Given the description of an element on the screen output the (x, y) to click on. 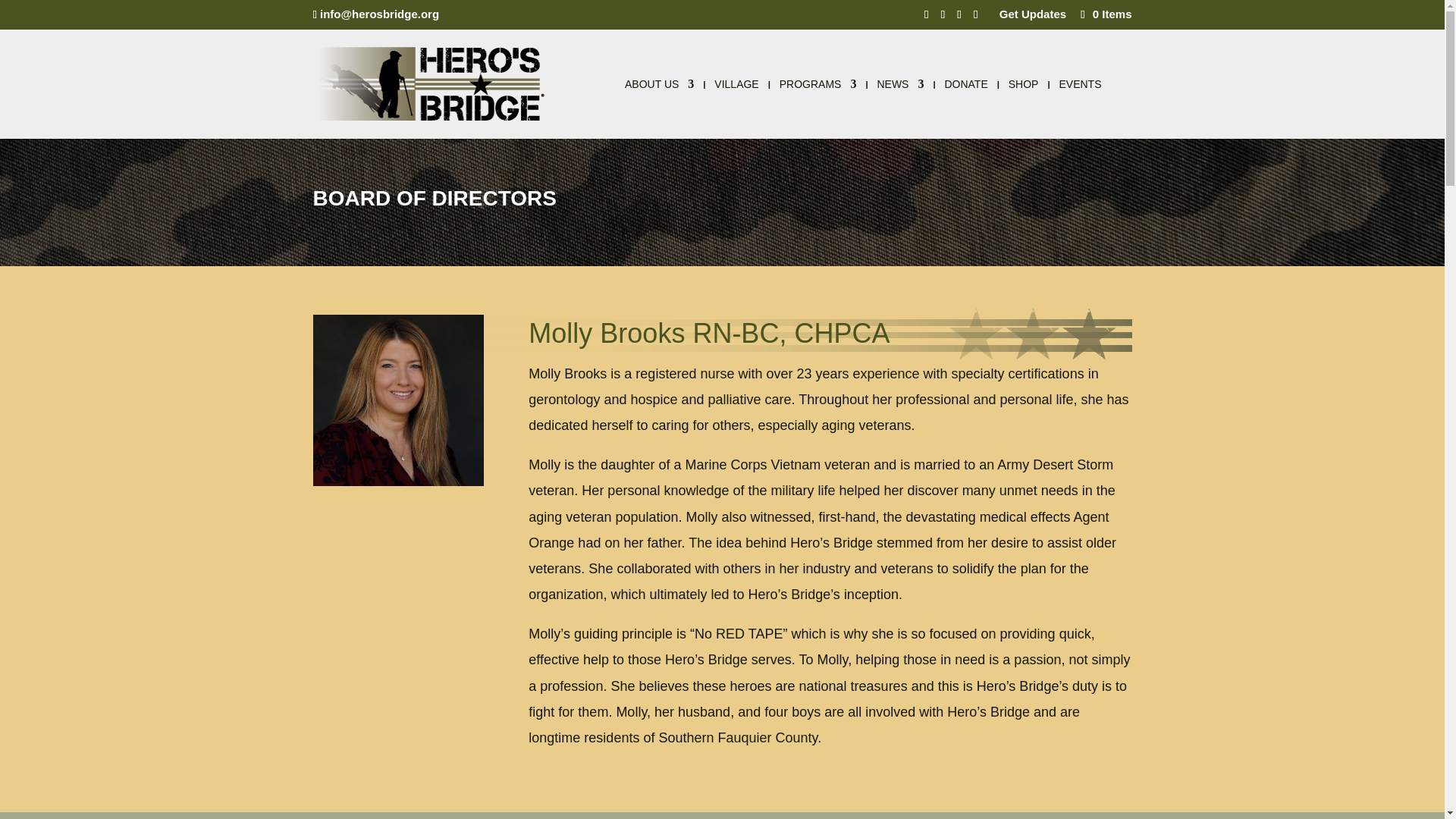
0 Items (1104, 13)
NEWS (899, 108)
VILLAGE (736, 108)
ABOUT US (659, 108)
PROGRAMS (817, 108)
DONATE (965, 108)
Get Updates (1031, 17)
SHOP (1024, 108)
Molly-Headshot (398, 399)
EVENTS (1079, 108)
